Given the description of an element on the screen output the (x, y) to click on. 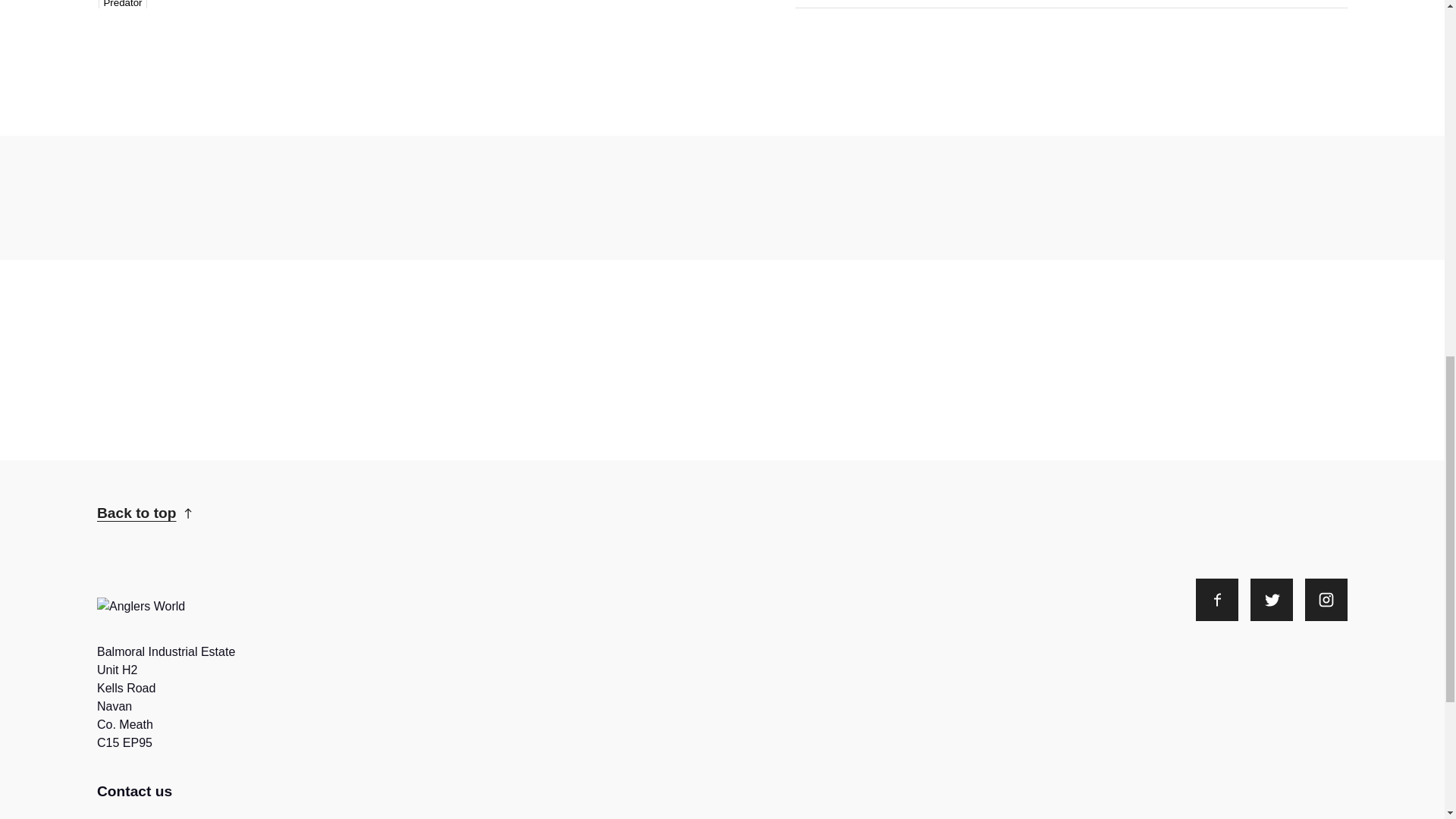
Twitter (1271, 599)
Instagram (1326, 599)
